Given the description of an element on the screen output the (x, y) to click on. 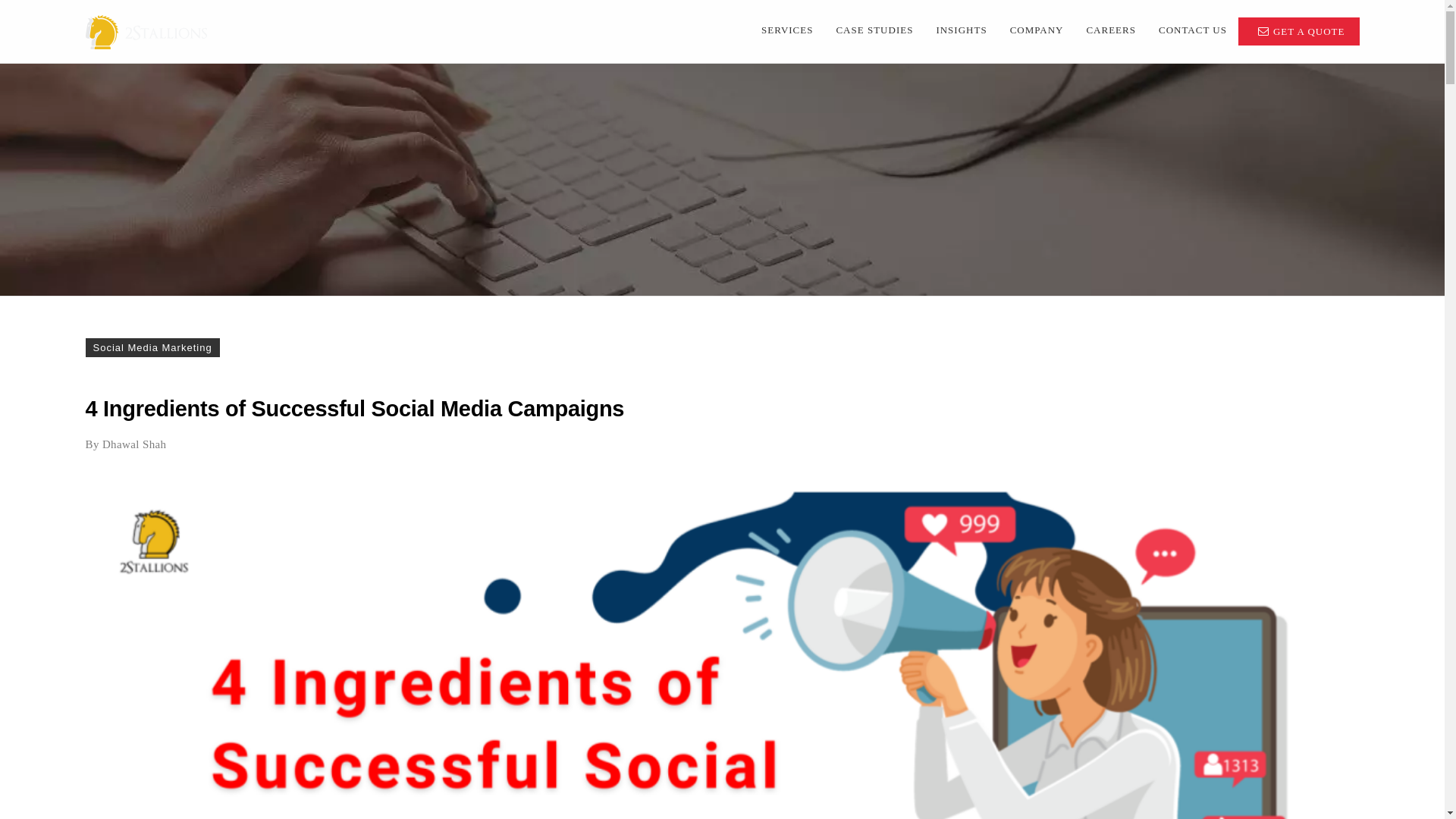
2Stallions Element type: hover (145, 32)
SERVICES Element type: text (786, 29)
Social Media Marketing Element type: text (151, 347)
INSIGHTS Element type: text (960, 29)
CAREERS Element type: text (1110, 29)
CASE STUDIES Element type: text (874, 29)
COMPANY Element type: text (1036, 29)
CONTACT US Element type: text (1192, 29)
GET A QUOTE Element type: text (1308, 31)
